Given the description of an element on the screen output the (x, y) to click on. 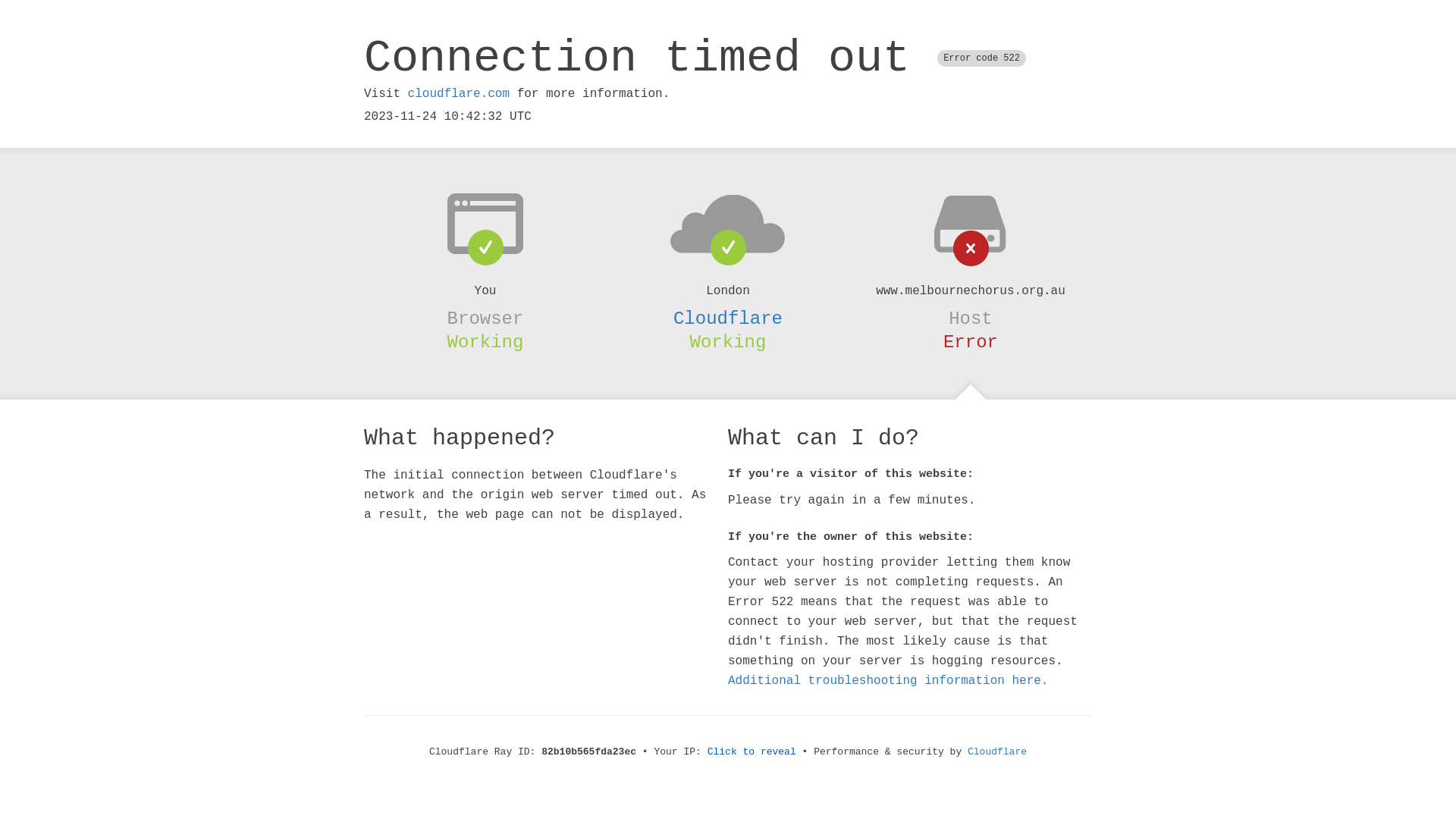
Cloudflare Element type: text (727, 318)
Click to reveal Element type: text (751, 751)
Cloudflare Element type: text (996, 751)
Additional troubleshooting information here. Element type: text (888, 680)
cloudflare.com Element type: text (458, 93)
